Given the description of an element on the screen output the (x, y) to click on. 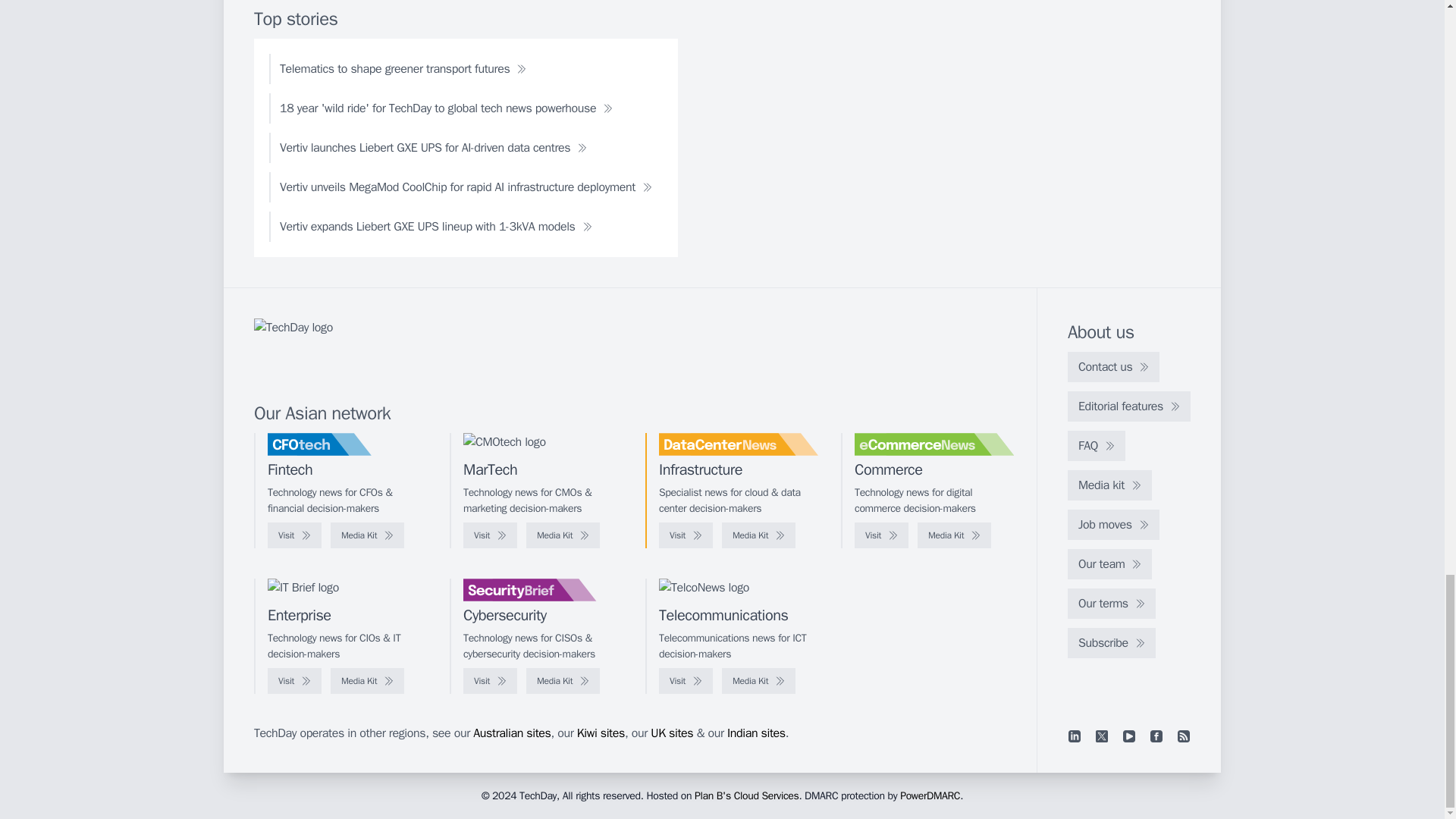
Visit (294, 534)
Vertiv launches Liebert GXE UPS for AI-driven data centres (432, 147)
Telematics to shape greener transport futures (403, 69)
Visit (686, 534)
Media Kit (954, 534)
Vertiv expands Liebert GXE UPS lineup with 1-3kVA models (435, 226)
Media Kit (758, 534)
Media Kit (562, 534)
Media Kit (367, 534)
Visit (489, 534)
Visit (881, 534)
